Given the description of an element on the screen output the (x, y) to click on. 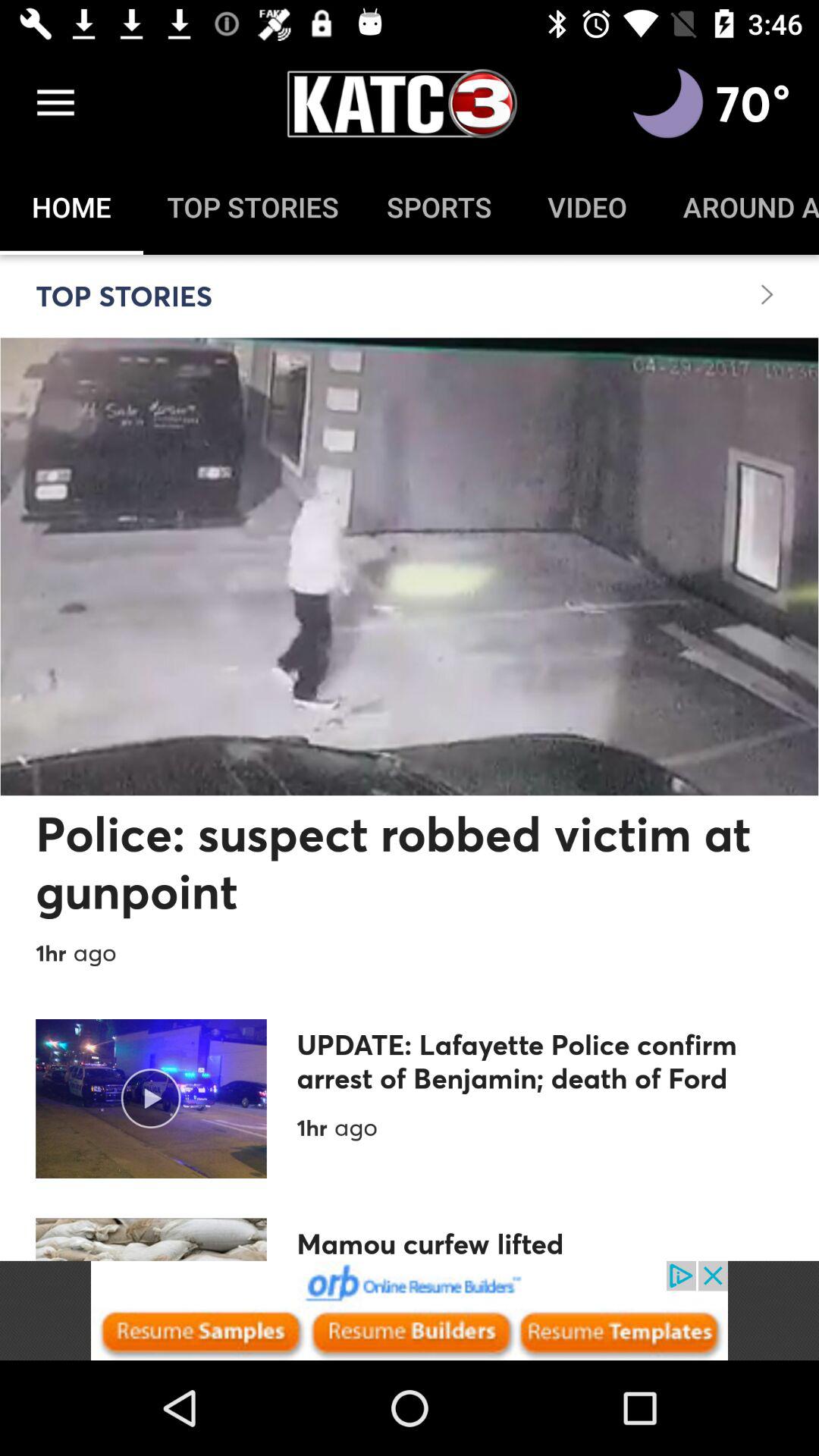
know about the advertisement (409, 1310)
